Given the description of an element on the screen output the (x, y) to click on. 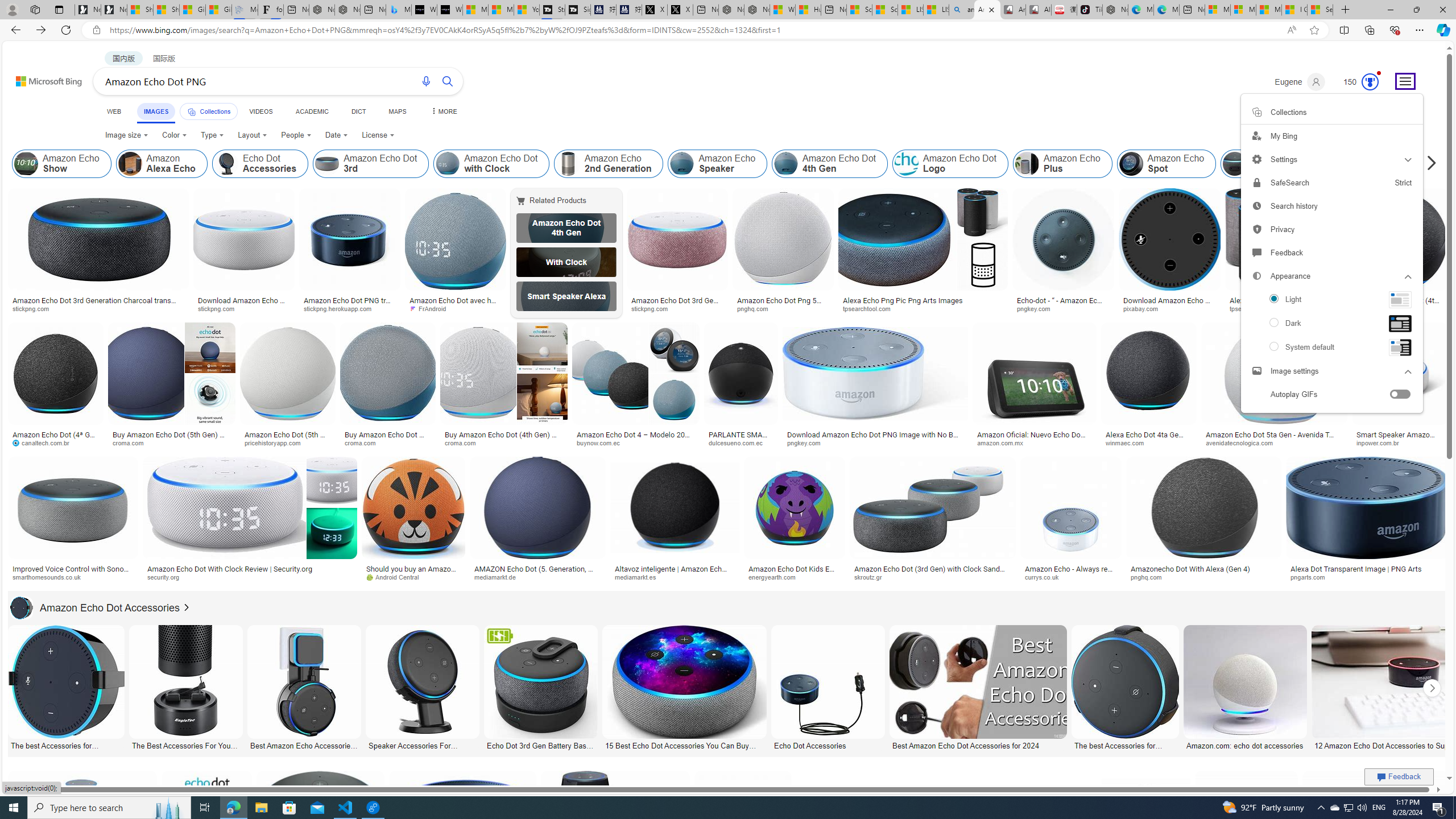
mediamarkt.es (674, 576)
Amazon Echo Dot 4th Gen (565, 227)
MAPS (397, 111)
pricehistoryapp.com (276, 442)
Amazon Echo Spot (1165, 163)
Amazon Echo Dot 3rd (326, 163)
Eugene (1299, 81)
tpsearchtool.com (1283, 308)
Amazon Echo 2nd Generation (568, 163)
Amazon Echo Speaker (717, 163)
